Given the description of an element on the screen output the (x, y) to click on. 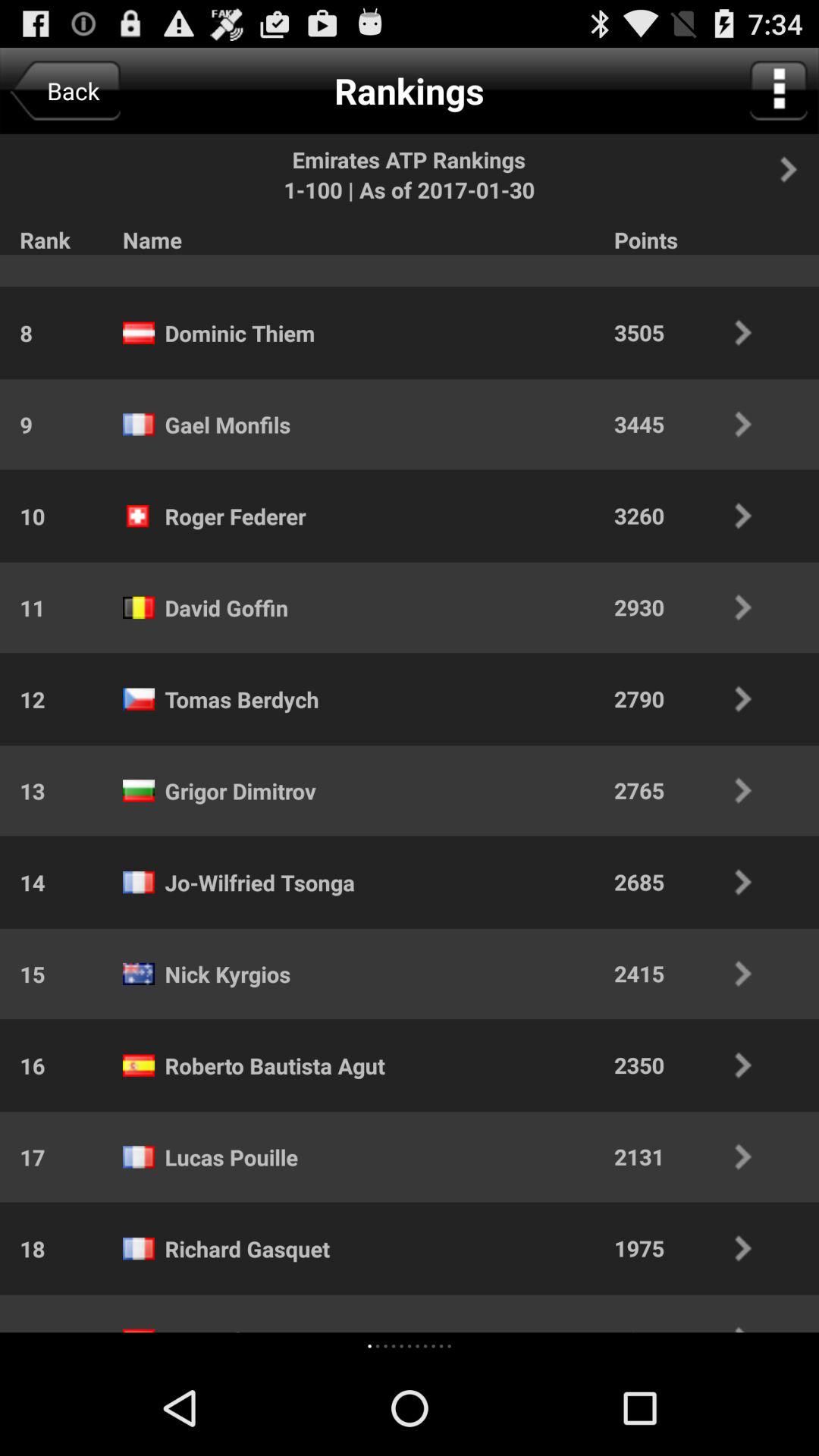
tap the icon to the left of 1875 icon (449, 1345)
